Given the description of an element on the screen output the (x, y) to click on. 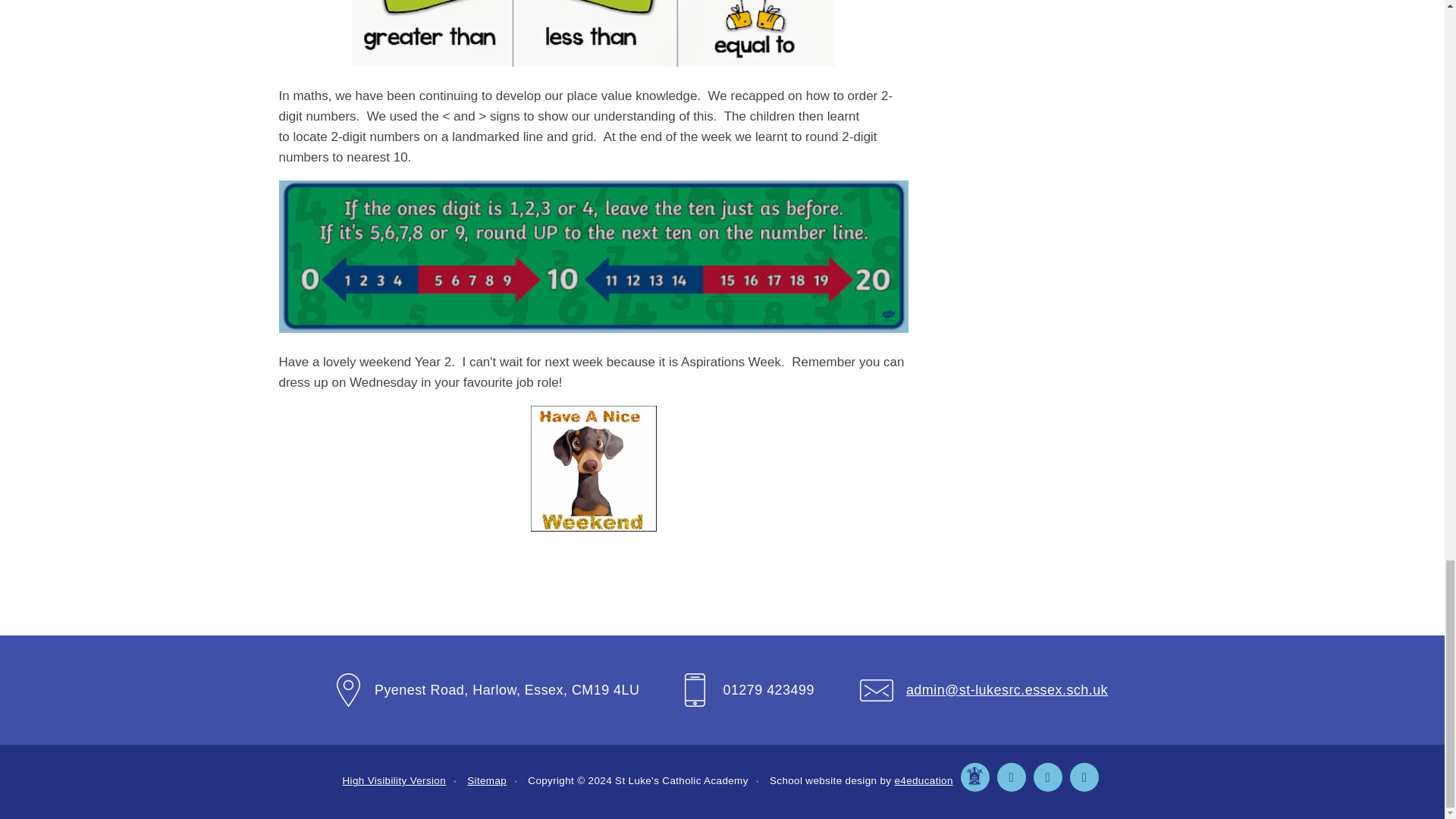
Twitter (1010, 776)
Crest (973, 776)
Email (1046, 776)
Parentmail (1082, 776)
